Given the description of an element on the screen output the (x, y) to click on. 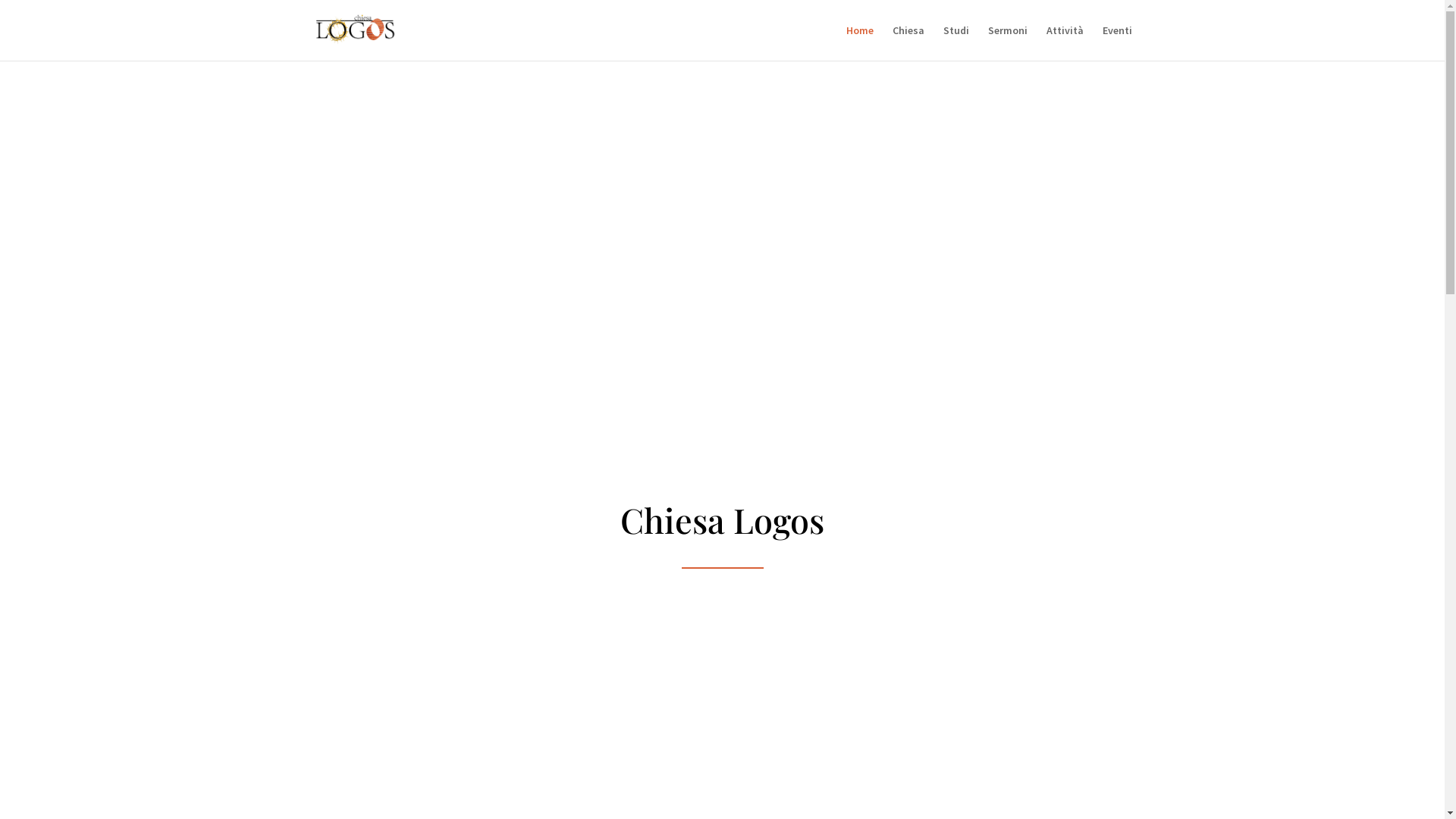
Home Element type: text (859, 42)
Eventi Element type: text (1117, 42)
Chiesa Element type: text (907, 42)
Sermoni Element type: text (1006, 42)
Studi Element type: text (956, 42)
